Given the description of an element on the screen output the (x, y) to click on. 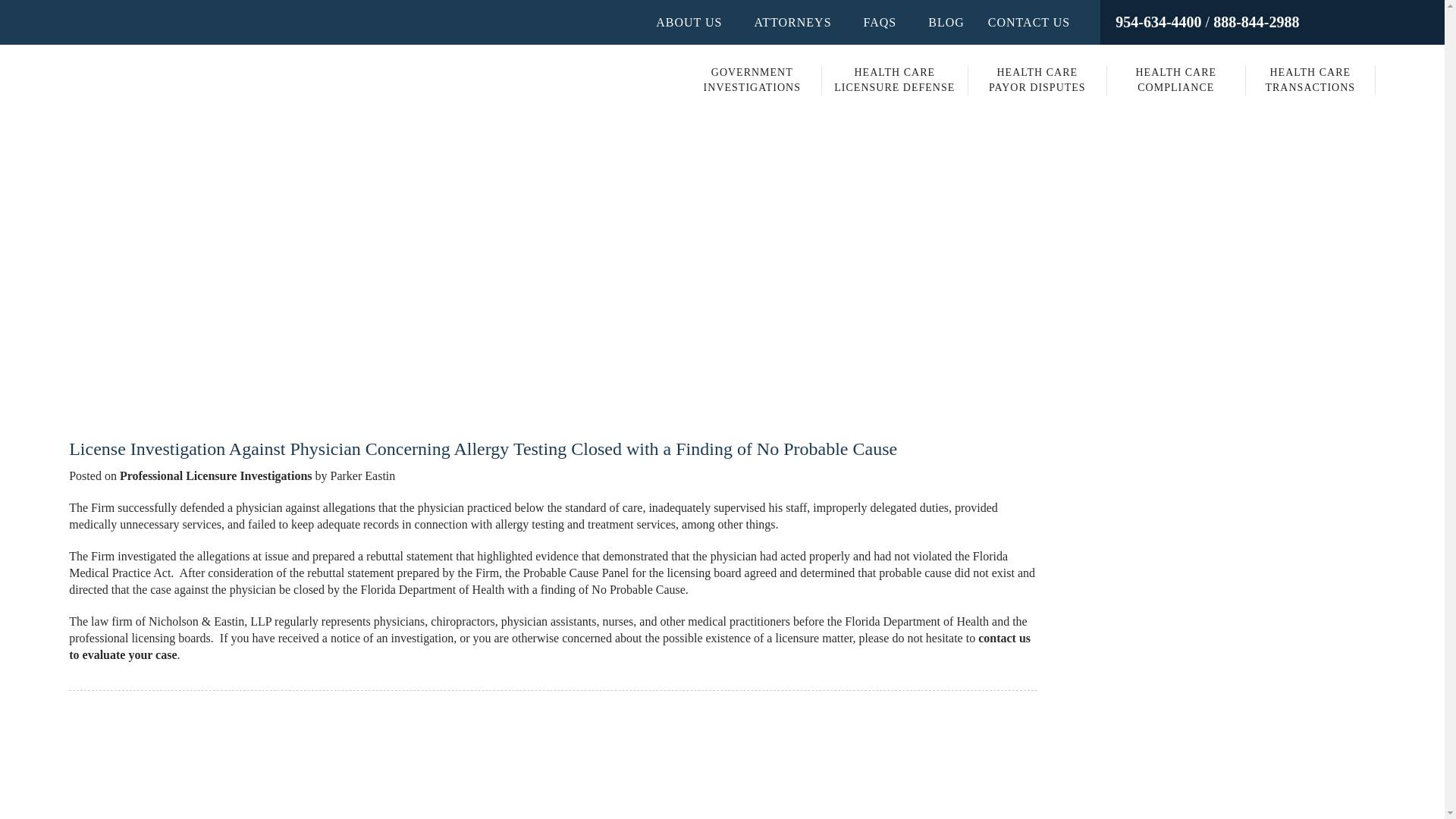
BLOG (1176, 80)
Professional Licensure Investigations (945, 22)
ABOUT US (216, 475)
ATTORNEYS (1310, 80)
CONTACT US (689, 22)
888-844-2988 (1037, 80)
